Given the description of an element on the screen output the (x, y) to click on. 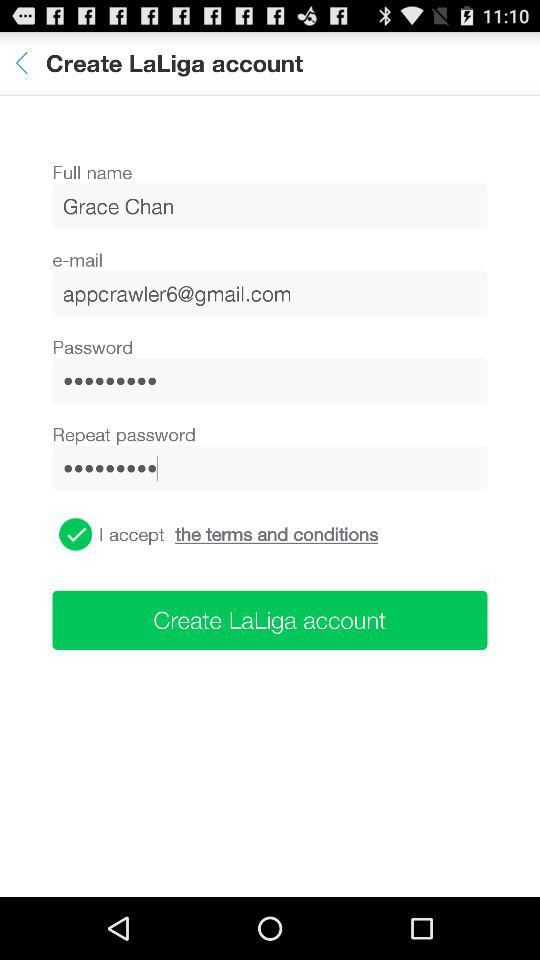
click the icon below the e-mail (269, 293)
